Given the description of an element on the screen output the (x, y) to click on. 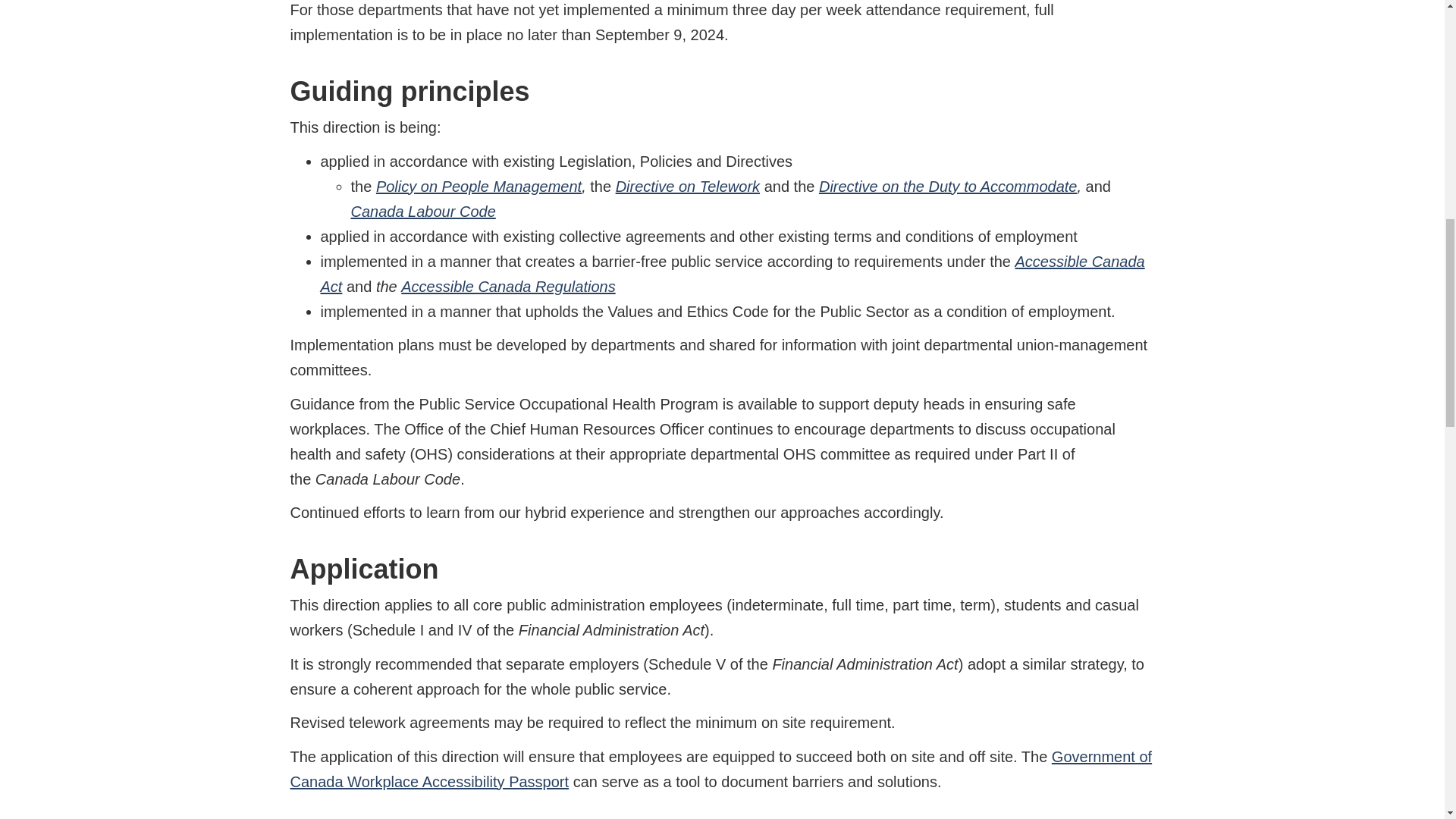
Canada Labour Code (422, 211)
Directive on the Duty to Accommodate (947, 186)
Accessible Canada Regulations (507, 286)
Accessible Canada Act (732, 273)
Policy on People Management (477, 186)
Government of Canada Workplace Accessibility Passport (720, 769)
Directive on Telework (687, 186)
